Given the description of an element on the screen output the (x, y) to click on. 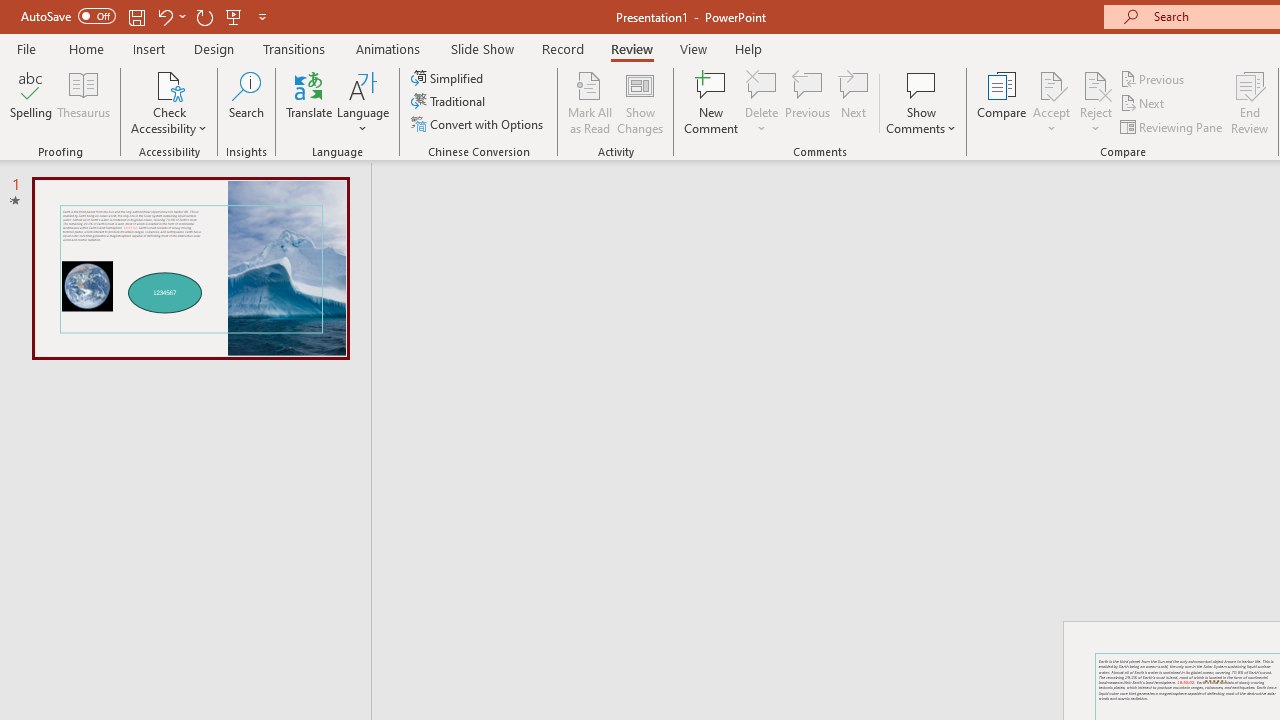
Reject Change (1096, 84)
Reject (1096, 102)
Accept Change (1051, 84)
Compare (1002, 102)
End Review (1249, 102)
Previous (1153, 78)
Next (1144, 103)
Mark All as Read (589, 102)
